Given the description of an element on the screen output the (x, y) to click on. 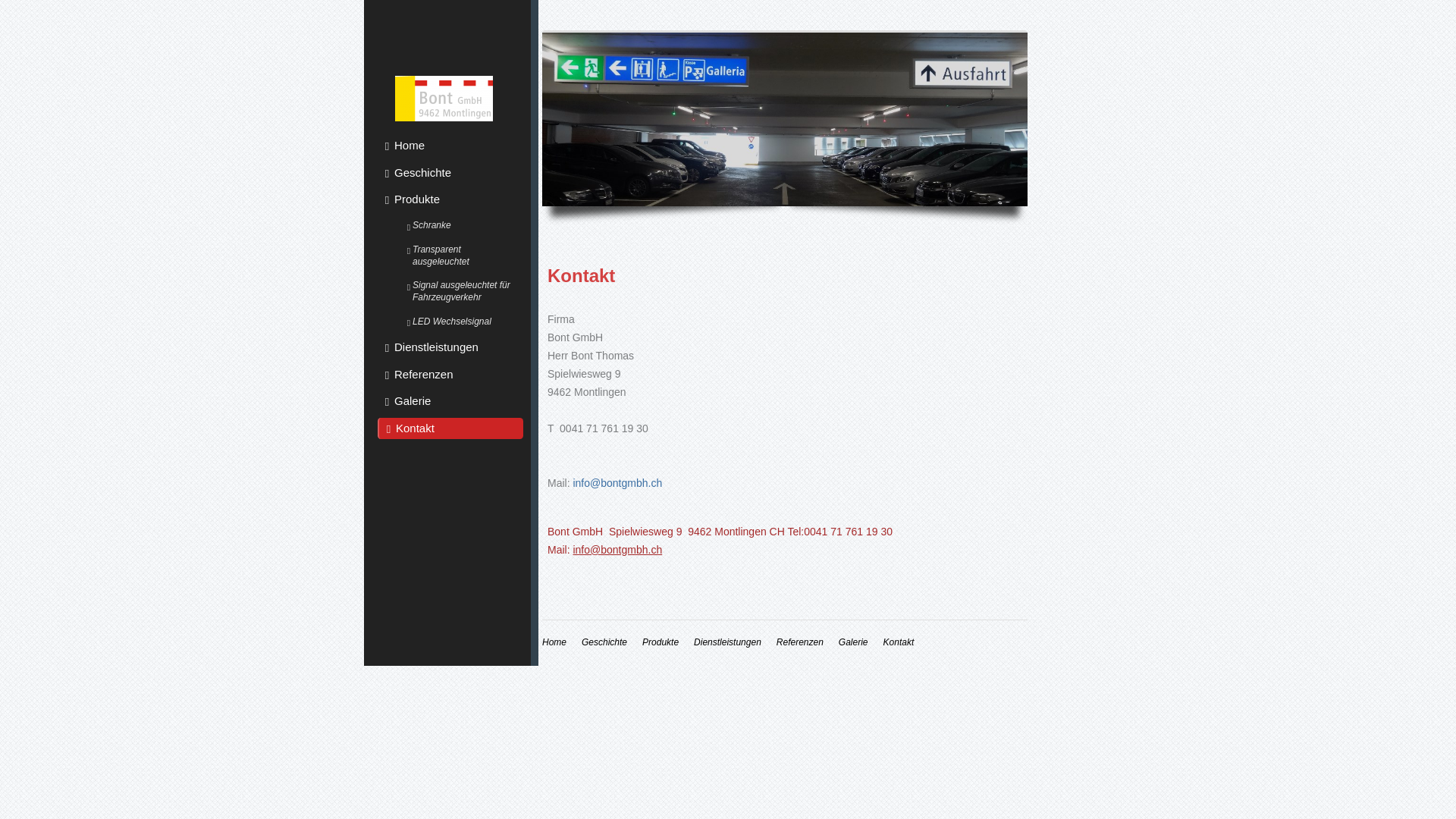
Kontakt Element type: text (450, 428)
Dienstleistungen Element type: text (727, 642)
Referenzen Element type: text (450, 374)
LED Wechselsignal Element type: text (460, 321)
Referenzen Element type: text (799, 642)
info@bontgmbh.ch Element type: text (617, 549)
Geschichte Element type: text (450, 172)
info@bontgmbh.ch Element type: text (617, 482)
Geschichte Element type: text (604, 642)
Galerie Element type: text (853, 642)
Kontakt Element type: text (898, 642)
Home Element type: text (450, 145)
Transparent ausgeleuchtet Element type: text (460, 255)
Dienstleistungen Element type: text (450, 346)
Schranke Element type: text (460, 225)
Produkte Element type: text (450, 199)
Galerie Element type: text (450, 400)
Produkte Element type: text (660, 642)
Home Element type: text (554, 642)
